Given the description of an element on the screen output the (x, y) to click on. 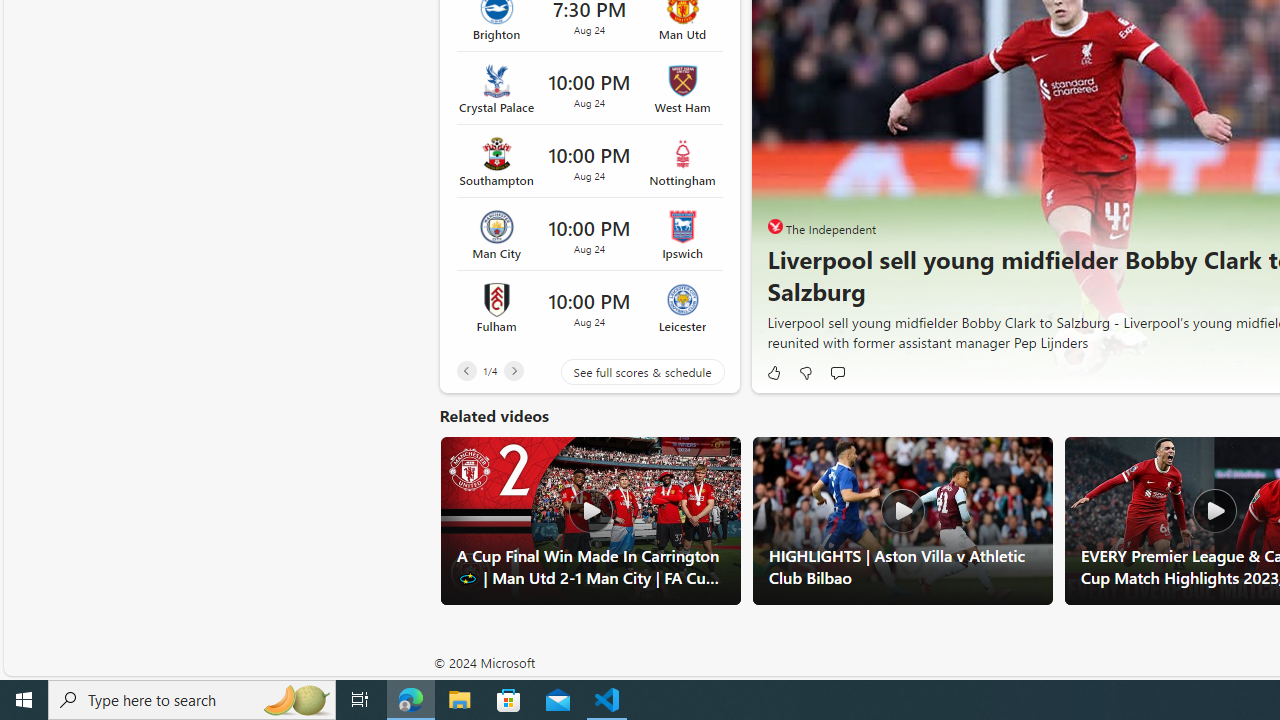
HIGHLIGHTS | Aston Villa v Athletic Club Bilbao (902, 520)
Like (772, 372)
Crystal Palace vs West Ham Time 10:00 PM Date Aug 24 (589, 88)
Previous (466, 370)
Fulham vs Leicester Time 10:00 PM Date Aug 24 (589, 307)
Front Office Sports (774, 226)
Next (513, 370)
previous (777, 161)
Southampton vs Nottingham Time 10:00 PM Date Aug 24 (589, 161)
Man City vs Ipswich Time 10:00 PM Date Aug 24 (589, 235)
